Given the description of an element on the screen output the (x, y) to click on. 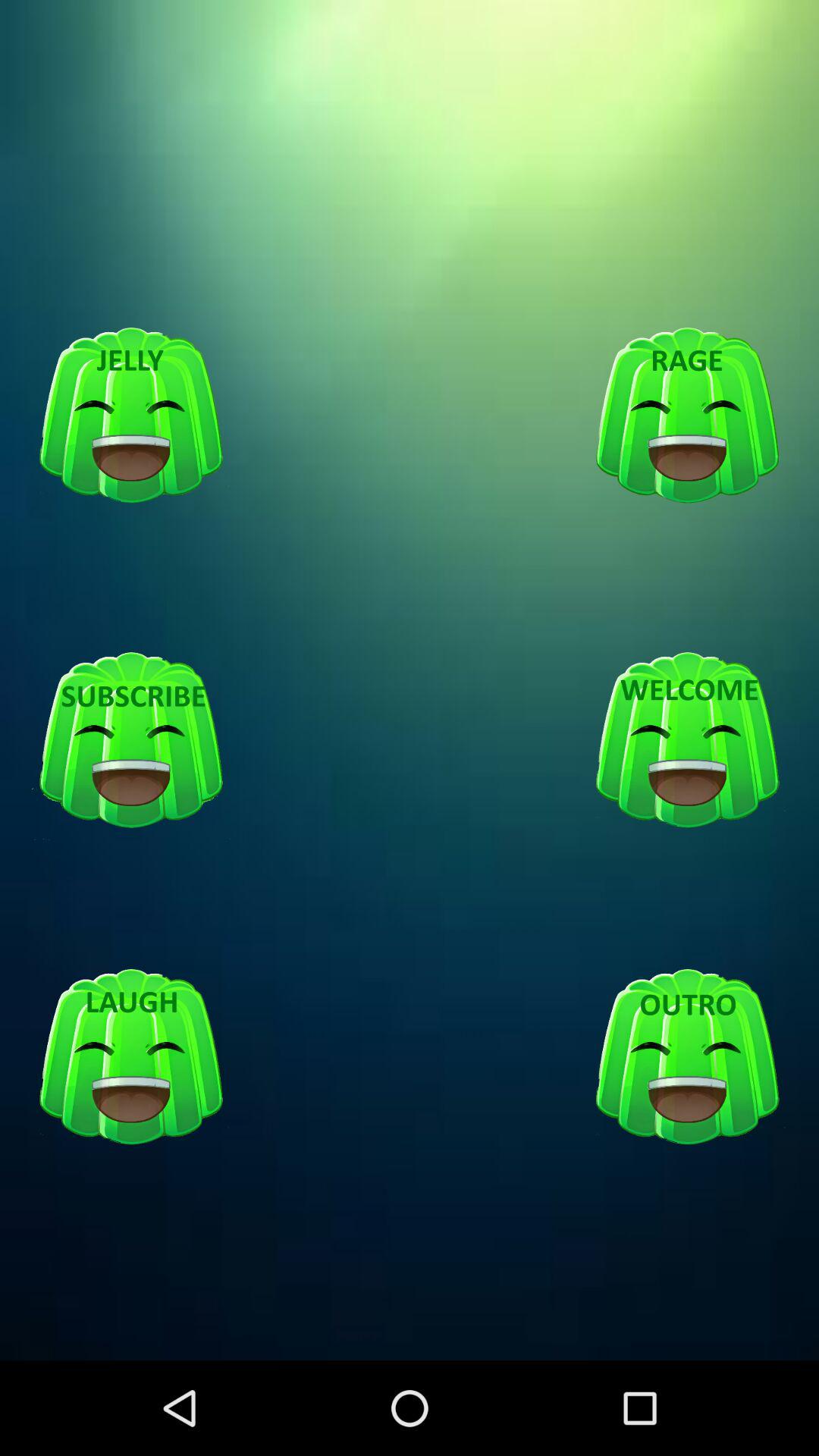
open icon on the right (687, 740)
